Given the description of an element on the screen output the (x, y) to click on. 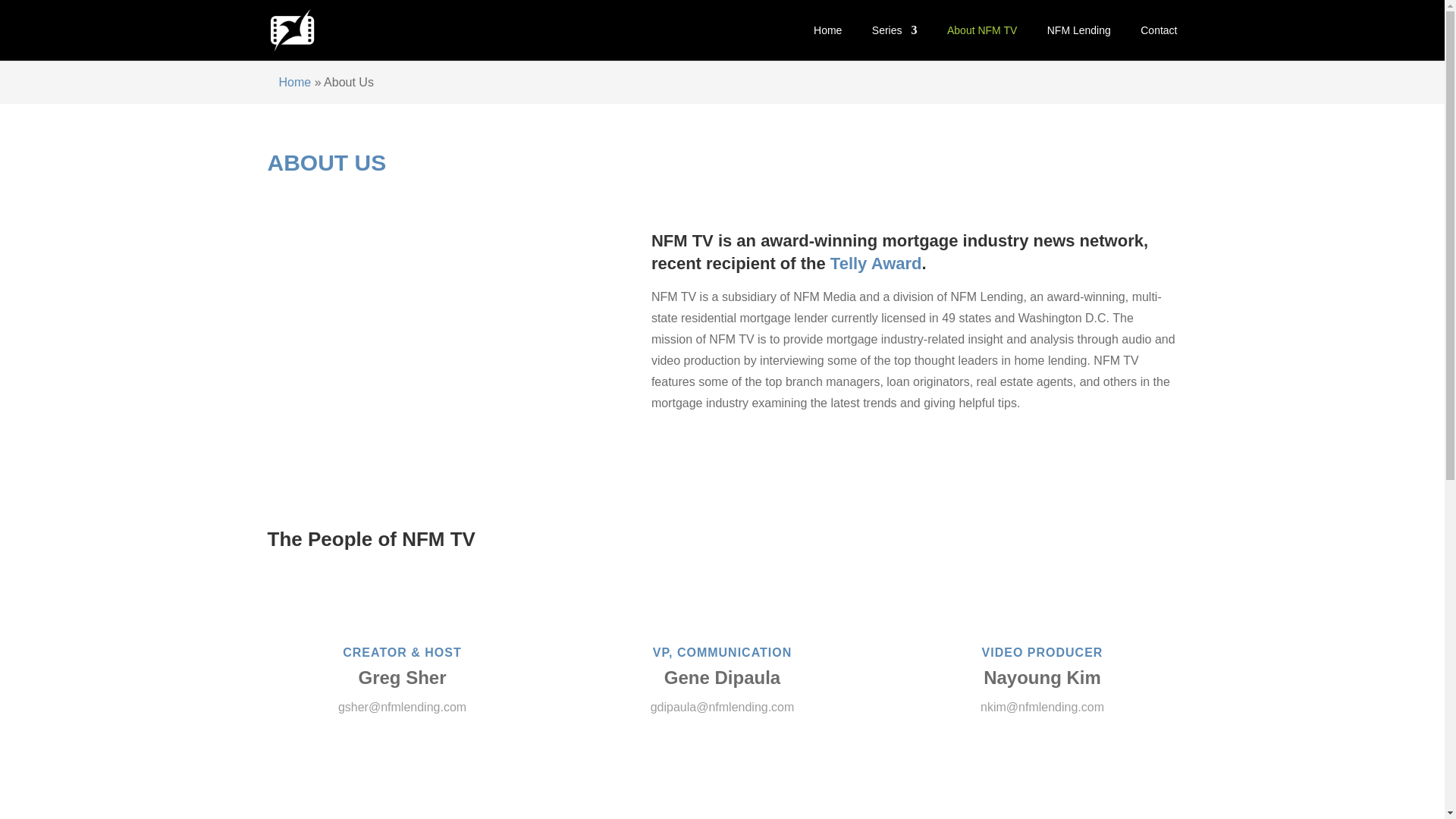
Home (295, 82)
Contact (1158, 42)
Series (894, 42)
NFM Lending (1078, 42)
Telly Award (875, 262)
About NFM TV (981, 42)
